Given the description of an element on the screen output the (x, y) to click on. 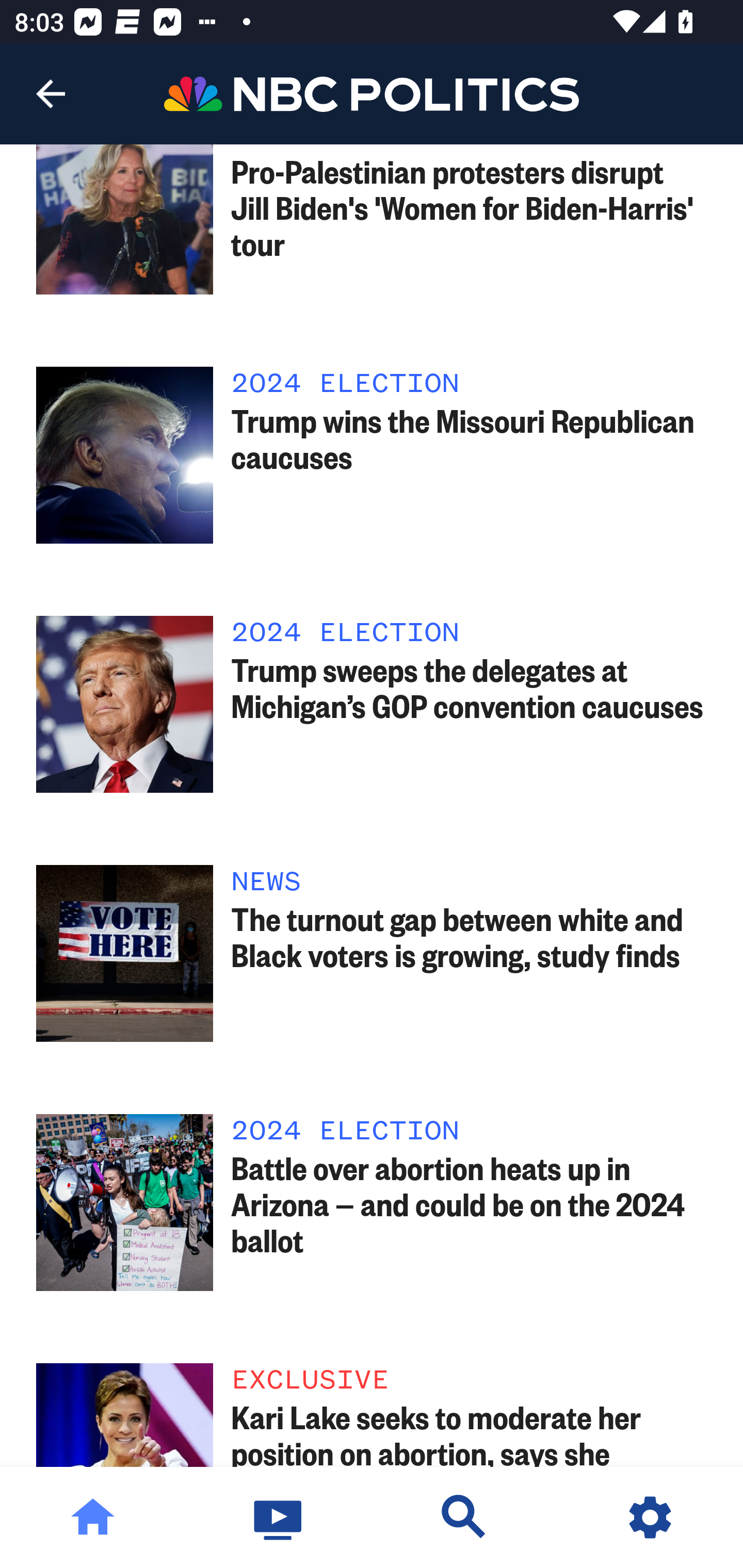
Navigate up (50, 93)
Watch (278, 1517)
Discover (464, 1517)
Settings (650, 1517)
